Given the description of an element on the screen output the (x, y) to click on. 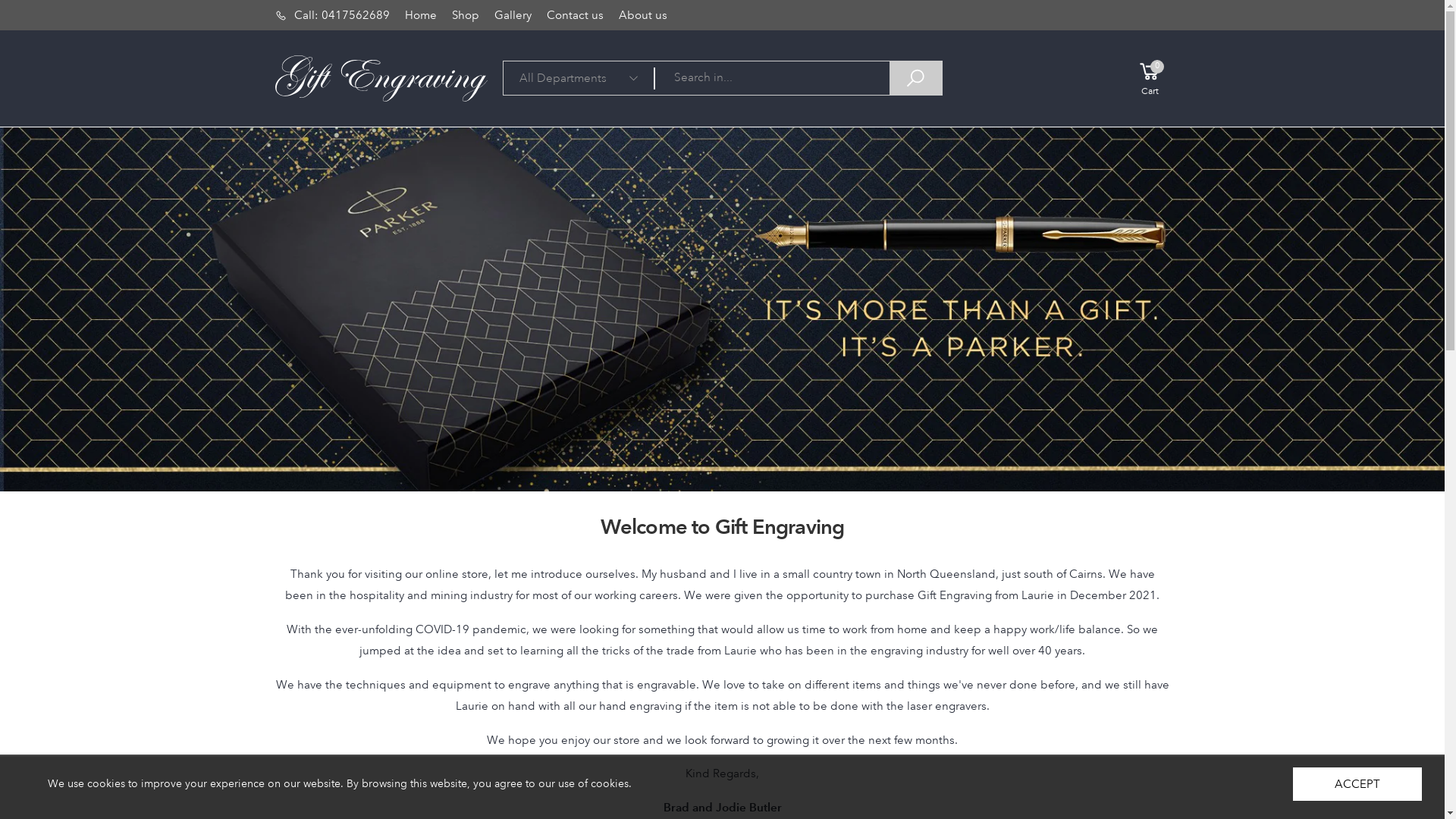
Shop Element type: text (465, 14)
ACCEPT Element type: text (1356, 783)
Call: 0417562689 Element type: text (331, 14)
Contact us Element type: text (574, 14)
About us Element type: text (642, 14)
Gallery Element type: text (512, 14)
Home Element type: text (420, 14)
0
Cart Element type: text (1143, 77)
